Given the description of an element on the screen output the (x, y) to click on. 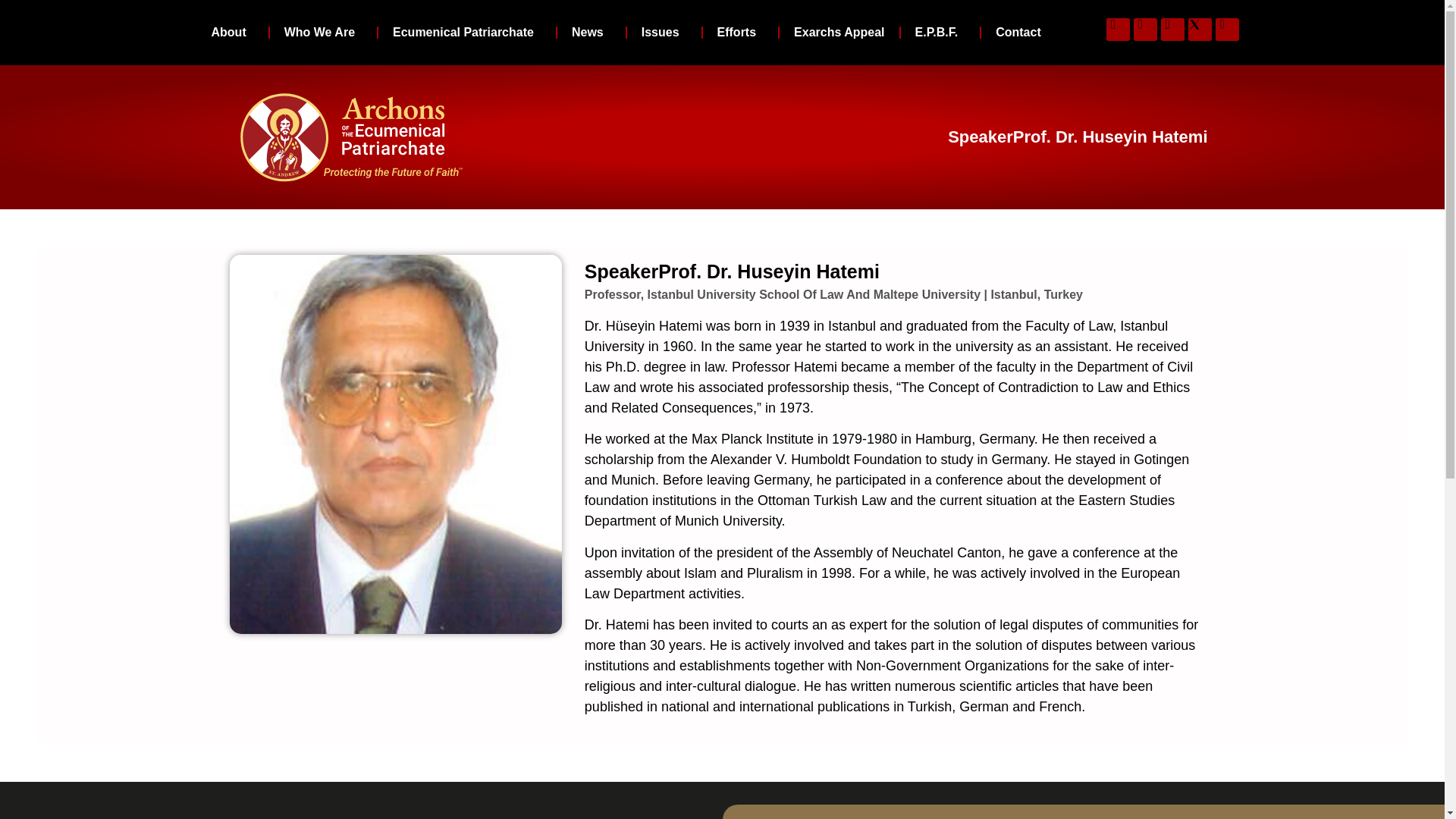
Ecumenical Patriarchate (467, 32)
Who We Are (322, 32)
About (231, 32)
News (591, 32)
